Given the description of an element on the screen output the (x, y) to click on. 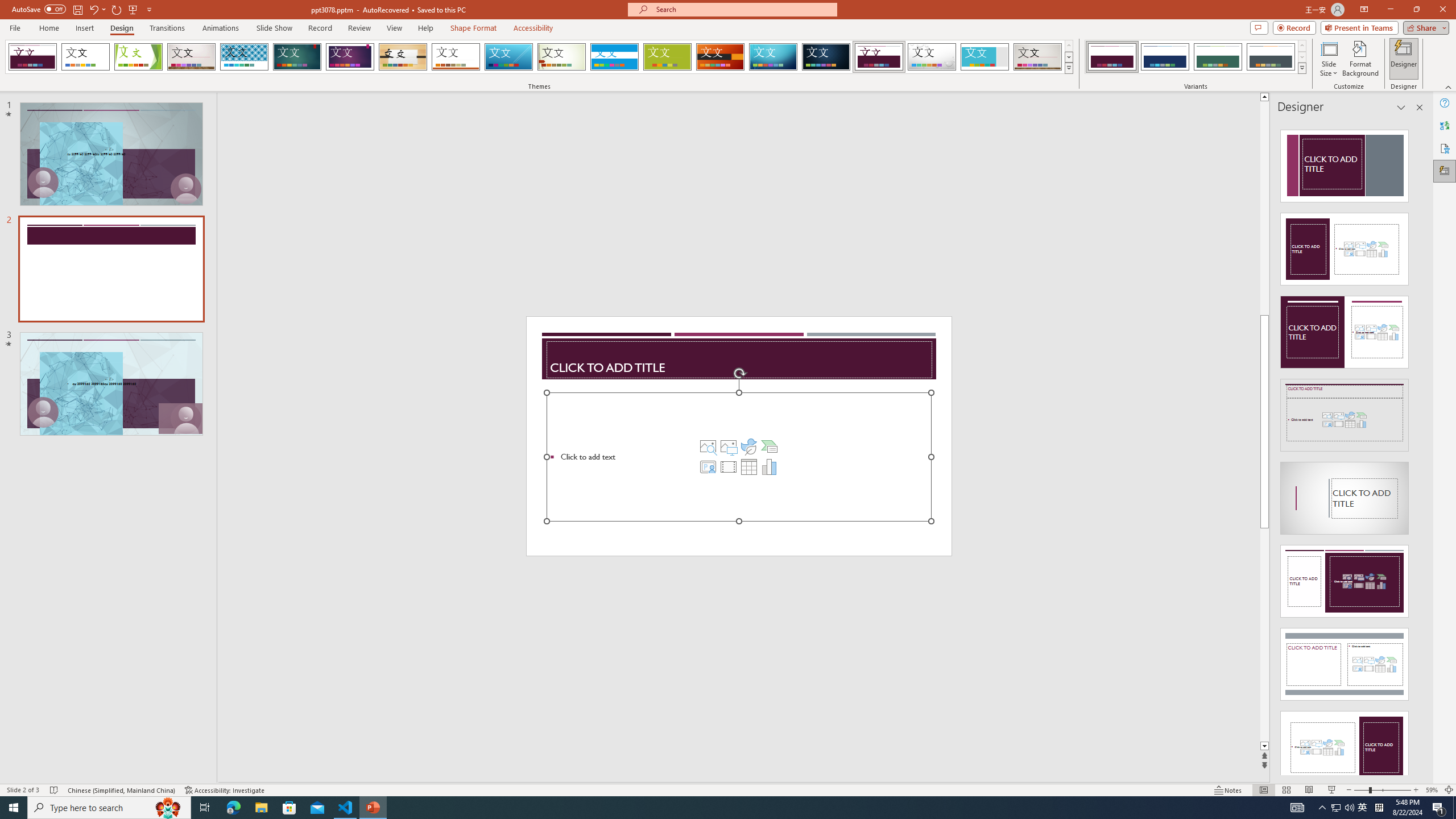
Insert Video (728, 466)
Insert a SmartArt Graphic (769, 446)
Circuit (772, 56)
Format Background (1360, 58)
Content Placeholder (738, 456)
